Given the description of an element on the screen output the (x, y) to click on. 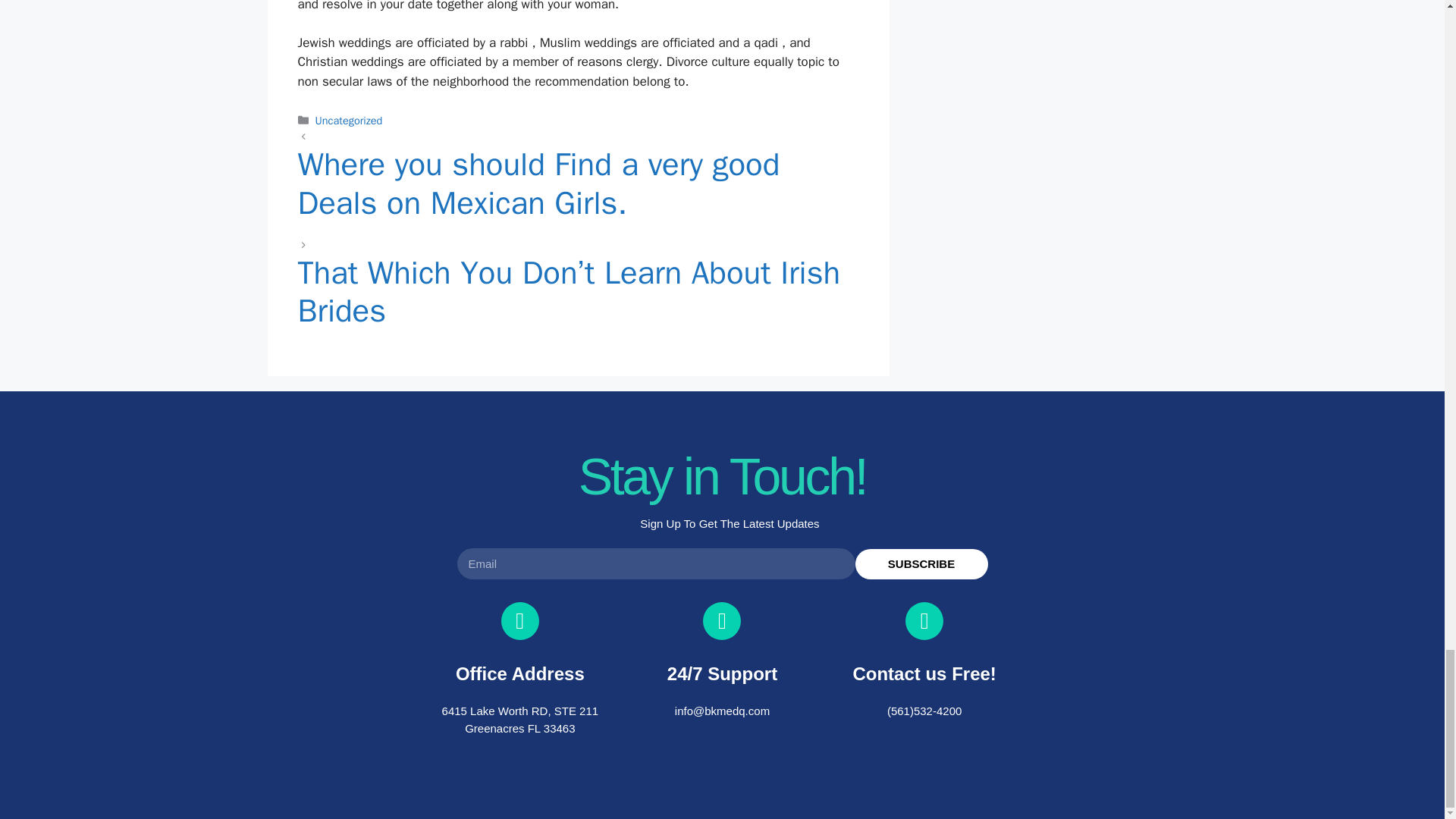
SUBSCRIBE (922, 563)
Uncategorized (348, 120)
Where you should Find a very good Deals on Mexican Girls. (578, 191)
